Given the description of an element on the screen output the (x, y) to click on. 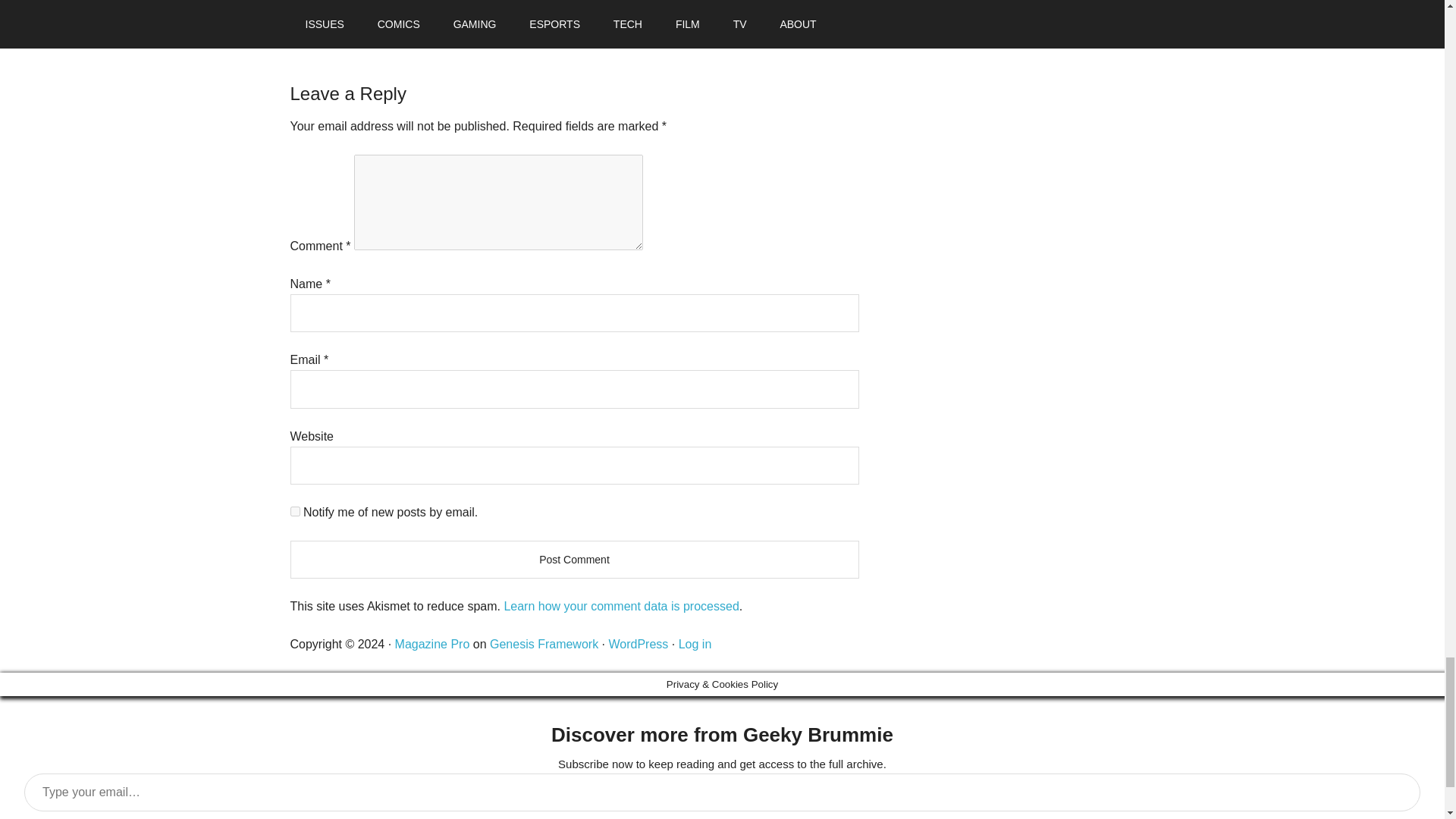
Post Comment (574, 559)
subscribe (294, 511)
